Given the description of an element on the screen output the (x, y) to click on. 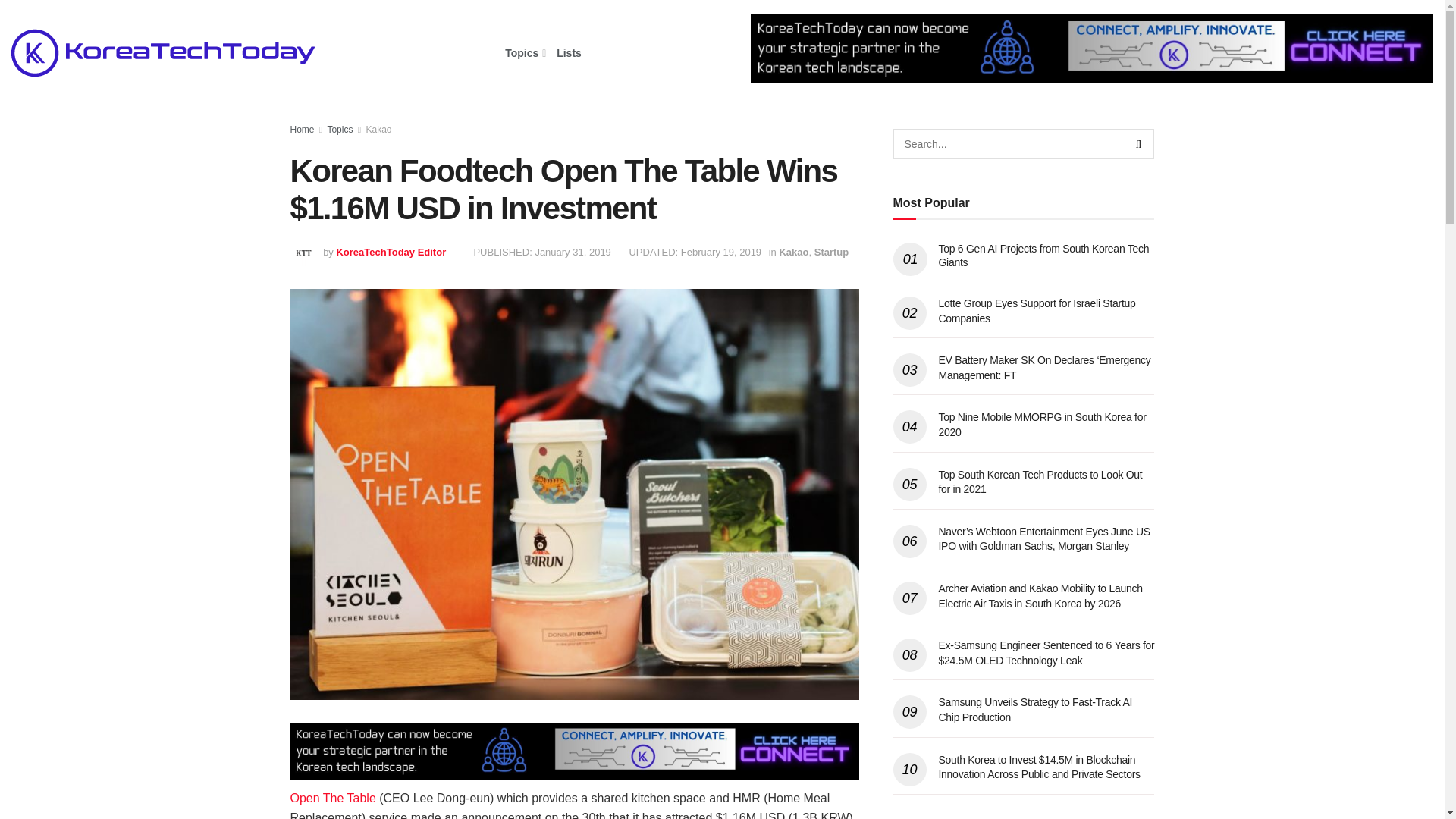
Topics (524, 53)
